Given the description of an element on the screen output the (x, y) to click on. 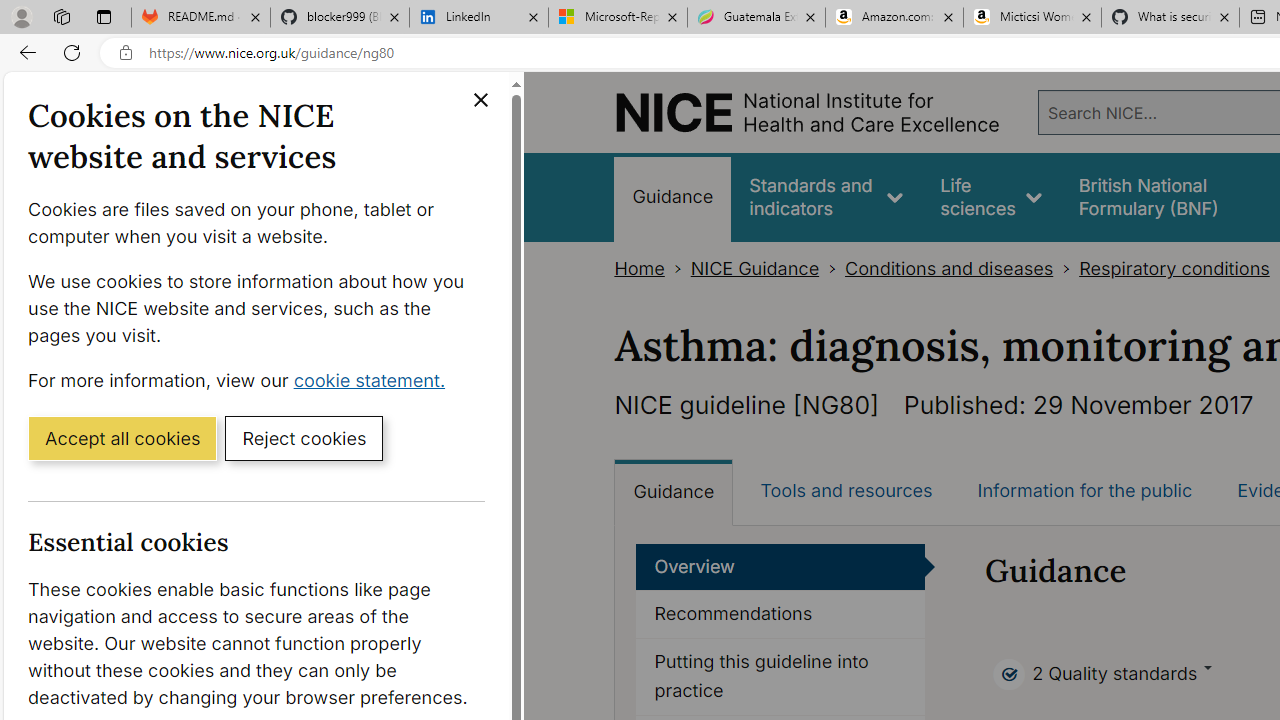
LinkedIn (478, 17)
